Given the description of an element on the screen output the (x, y) to click on. 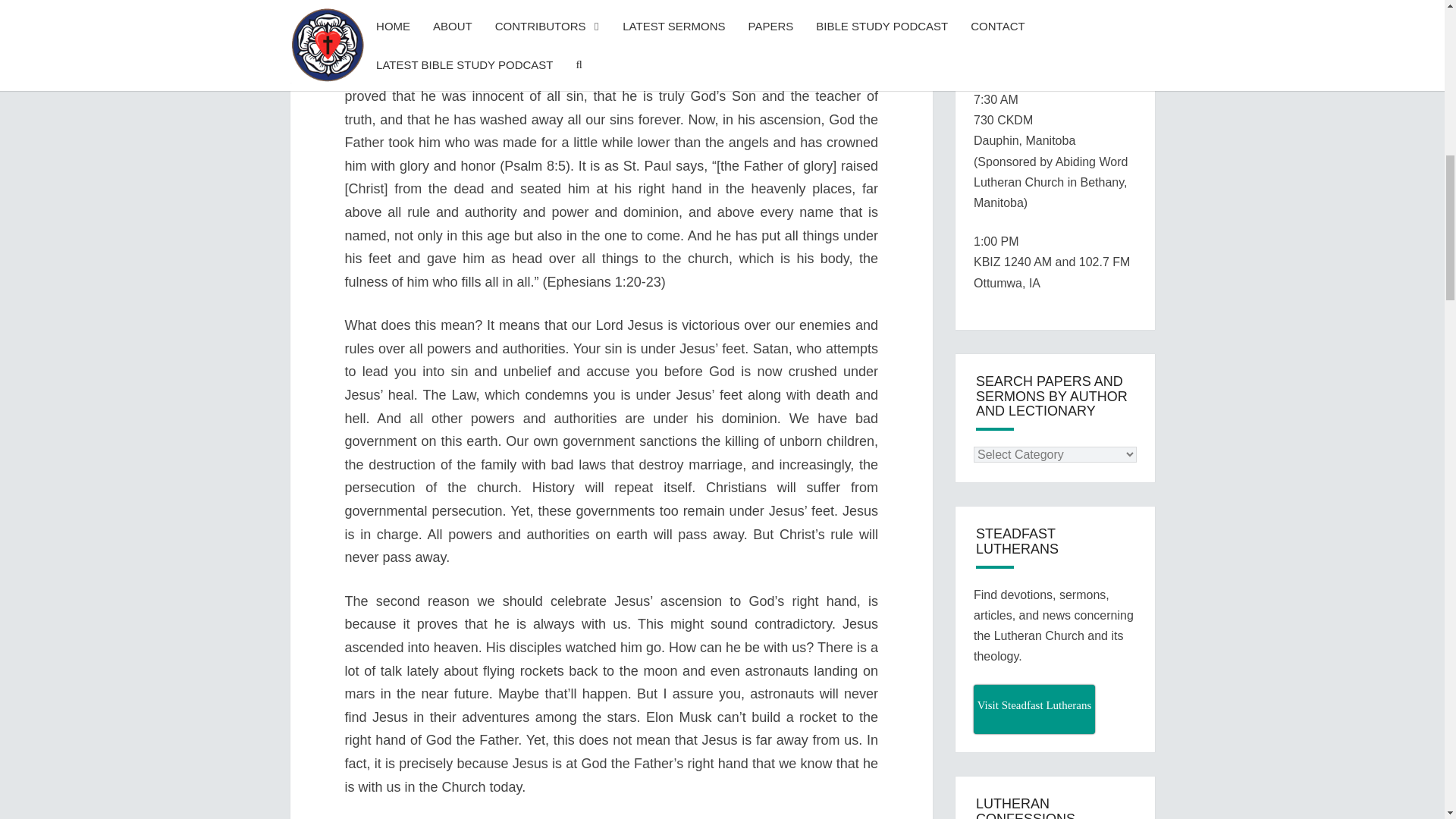
Visit Steadfast Lutherans (1034, 708)
